Given the description of an element on the screen output the (x, y) to click on. 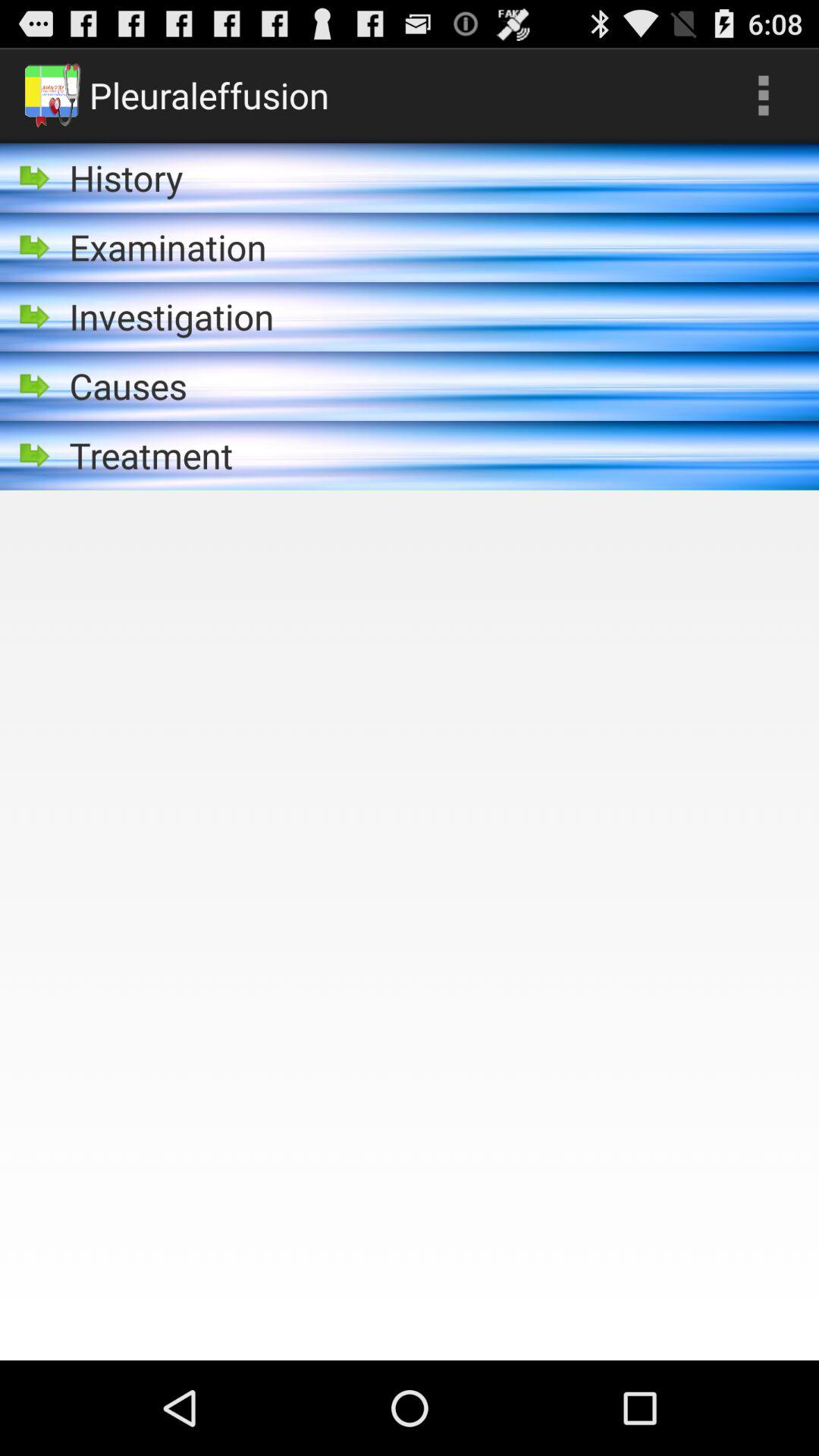
choose the icon next to the pleuraleffusion (763, 95)
